Given the description of an element on the screen output the (x, y) to click on. 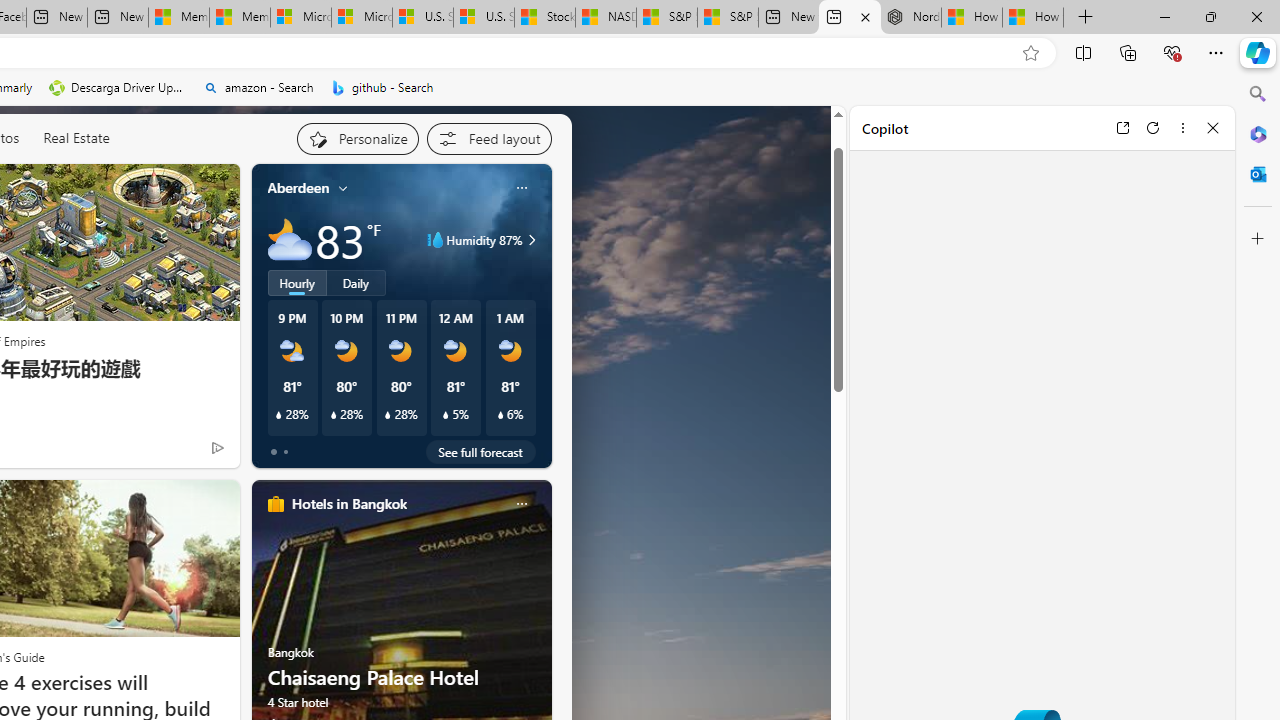
Real Estate (75, 138)
Customize (1258, 239)
Humidity 87% (529, 240)
Real Estate (76, 137)
hotels-header-icon (275, 503)
Class: weather-arrow-glyph (531, 240)
Microsoft 365 (1258, 133)
